Given the description of an element on the screen output the (x, y) to click on. 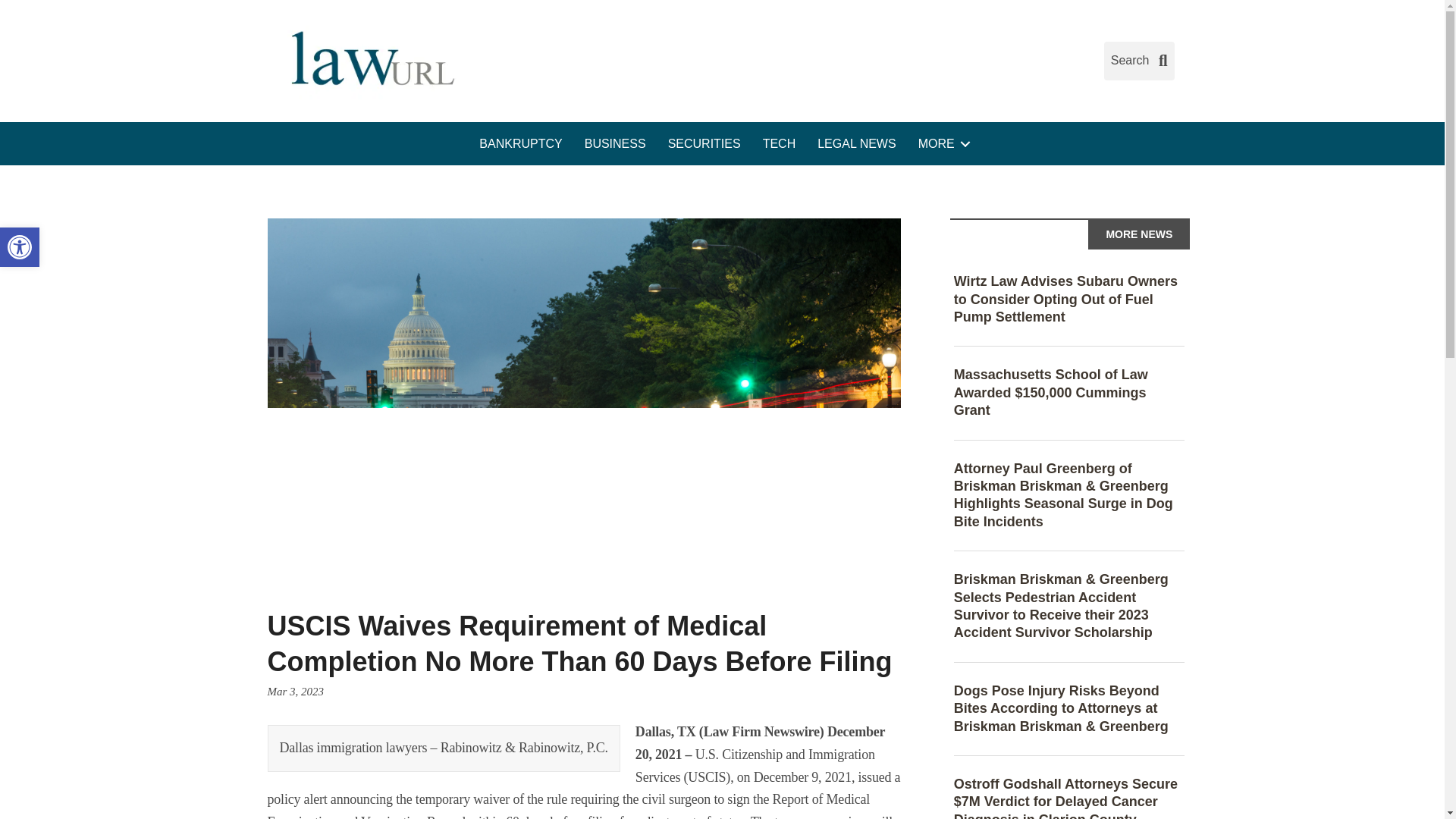
LEGAL NEWS (855, 143)
BANKRUPTCY (520, 143)
Accessibility Tools (19, 247)
TECH (779, 143)
MORE (941, 143)
SECURITIES (704, 143)
BUSINESS (614, 143)
Search (1138, 60)
logo1 (370, 61)
